Given the description of an element on the screen output the (x, y) to click on. 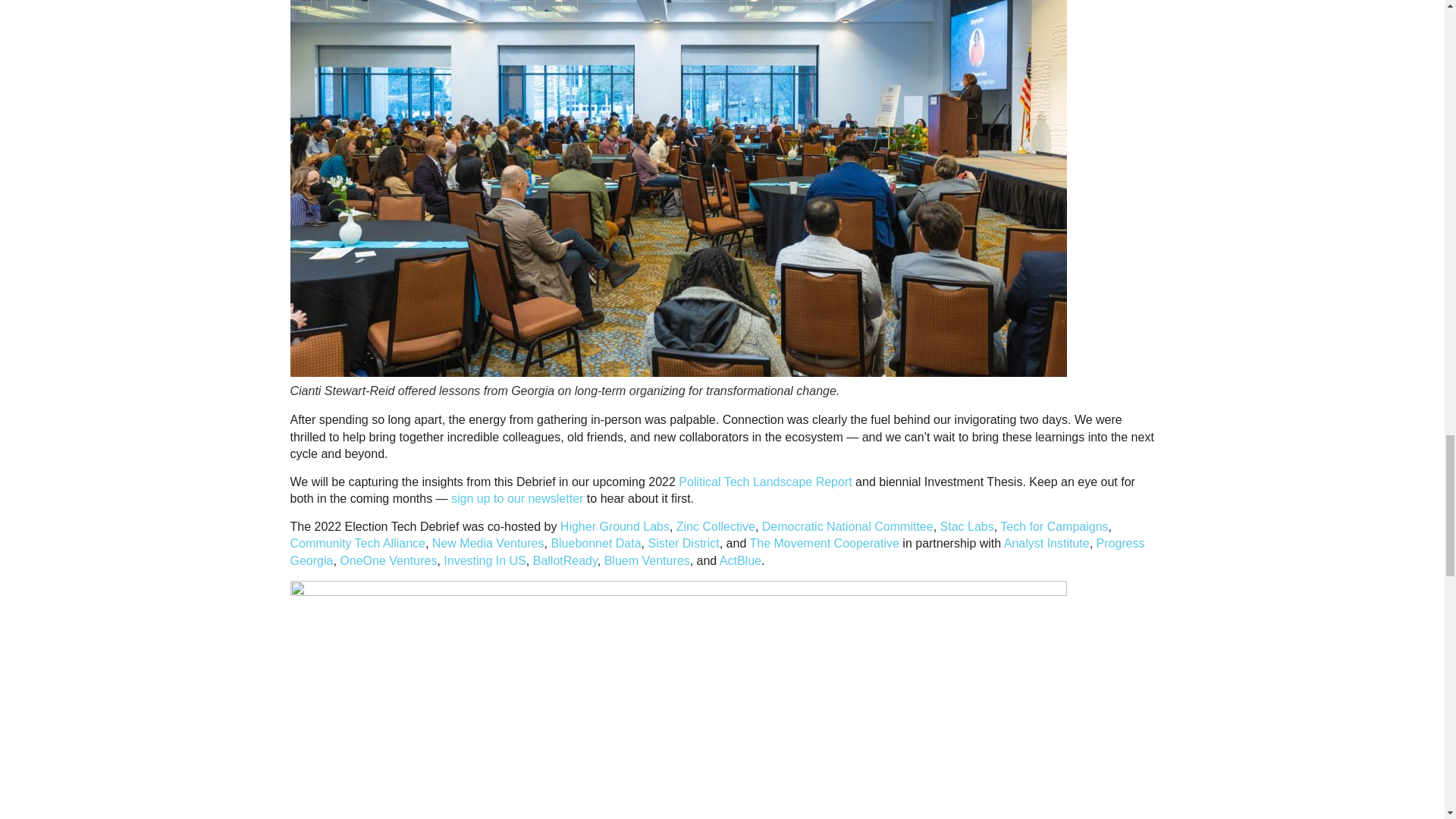
Zinc Collective (716, 526)
Democratic National Committee (847, 526)
Tech for Campaigns (1054, 526)
rgia (323, 560)
BallotReady (564, 560)
Higher Ground Labs (614, 526)
ActBlue (740, 560)
Sister District (683, 543)
OneOne Ventures (387, 560)
Bluebonnet Data (595, 543)
Progress Ge (716, 551)
Community Tech Alliance (357, 543)
The Movement Cooperative (823, 543)
sign up to our newsletter (517, 498)
Stac Labs (967, 526)
